Given the description of an element on the screen output the (x, y) to click on. 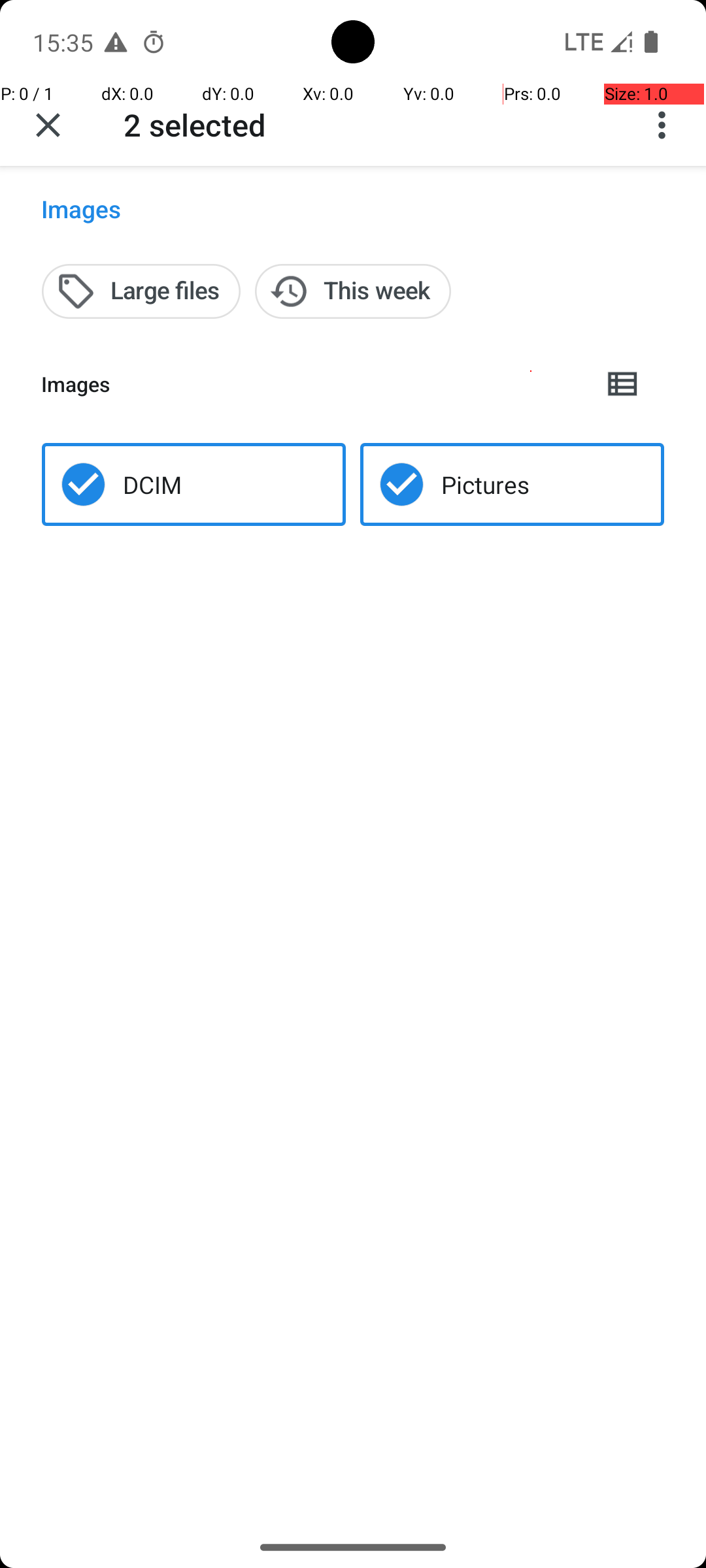
2 selected Element type: android.widget.TextView (194, 124)
DCIM Element type: android.widget.TextView (151, 484)
Pictures Element type: android.widget.TextView (485, 484)
